Given the description of an element on the screen output the (x, y) to click on. 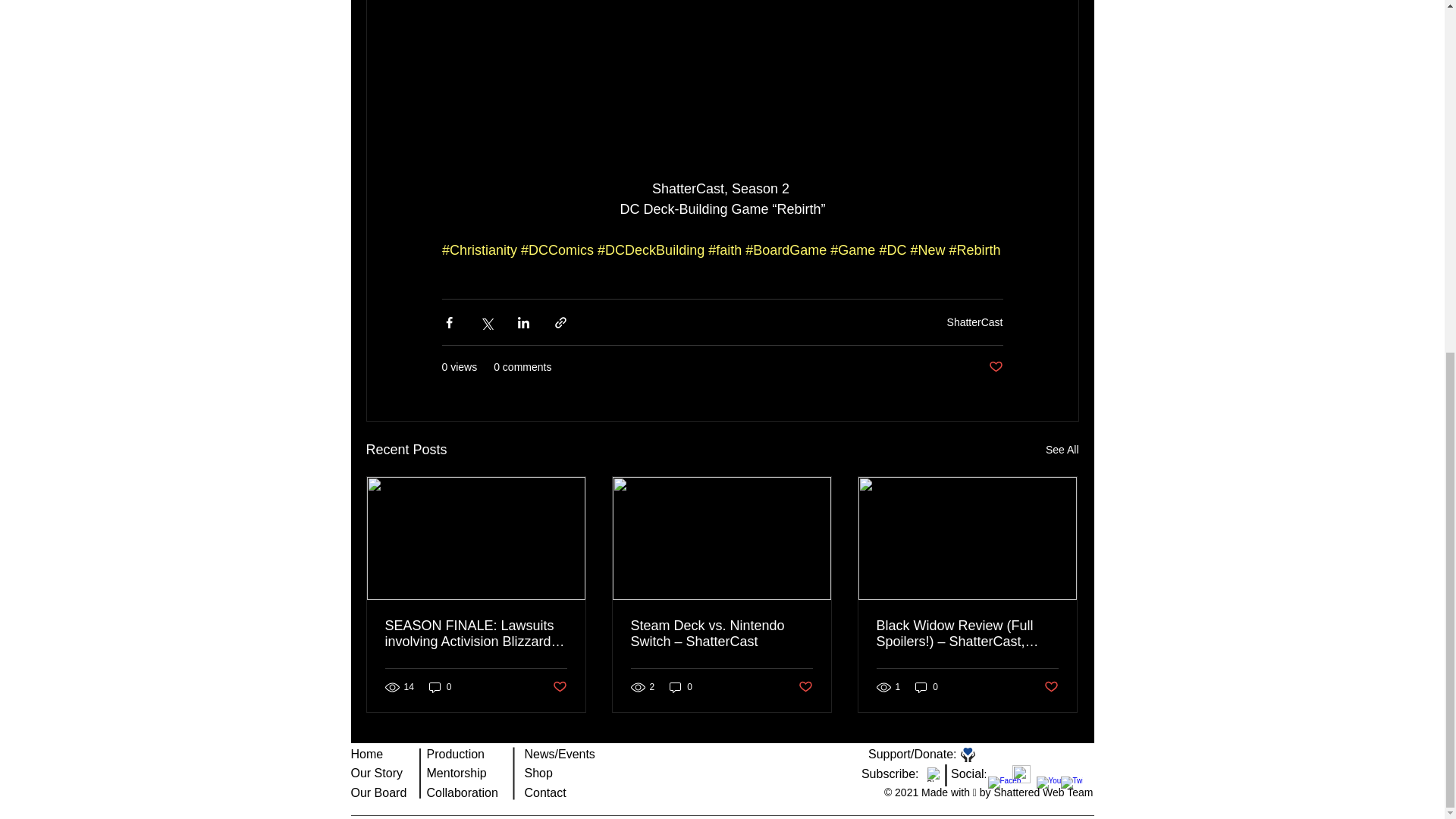
ShatterCast (975, 322)
See All (1061, 449)
Post not marked as liked (995, 367)
